Given the description of an element on the screen output the (x, y) to click on. 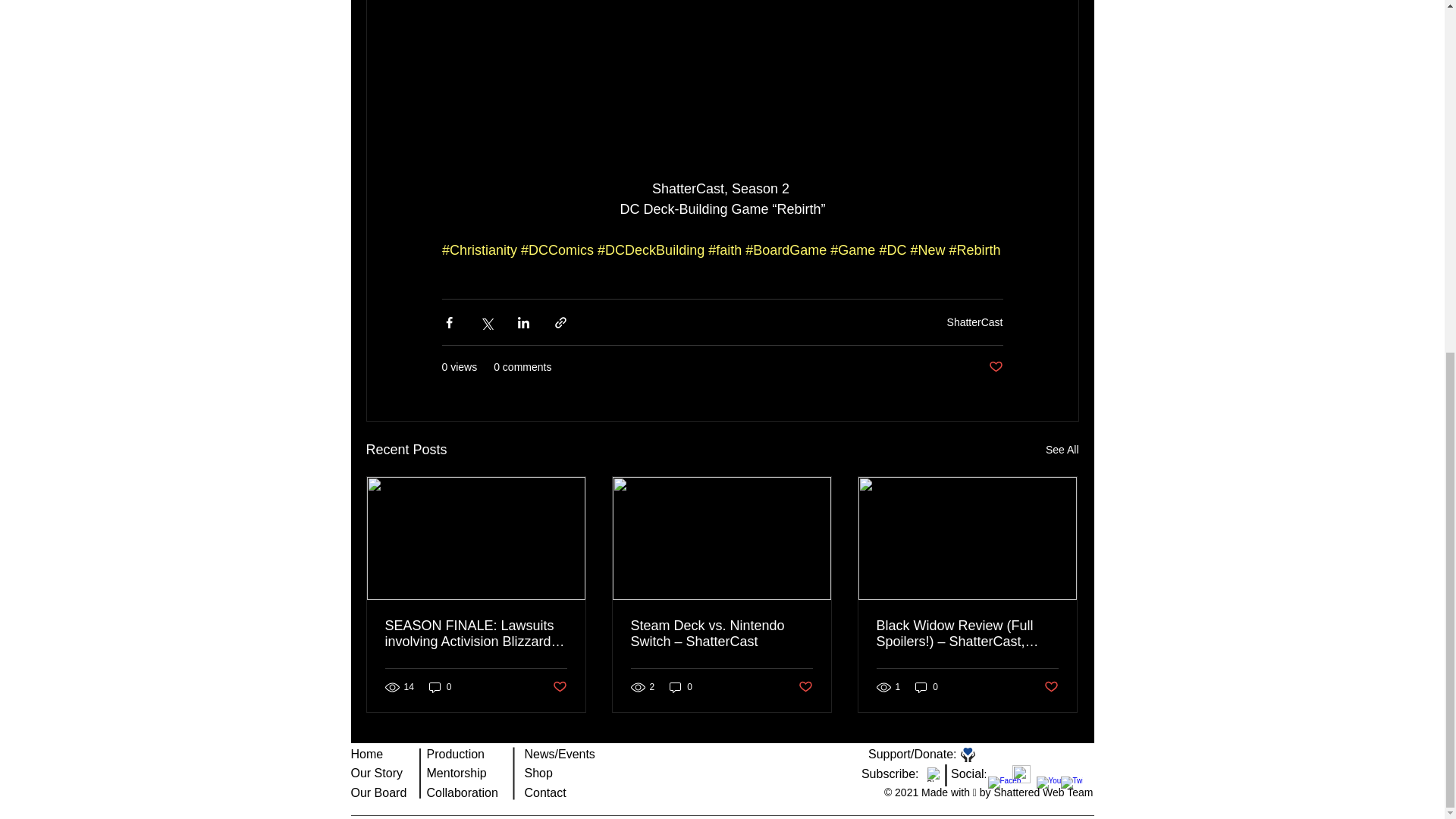
ShatterCast (975, 322)
See All (1061, 449)
Post not marked as liked (995, 367)
